Given the description of an element on the screen output the (x, y) to click on. 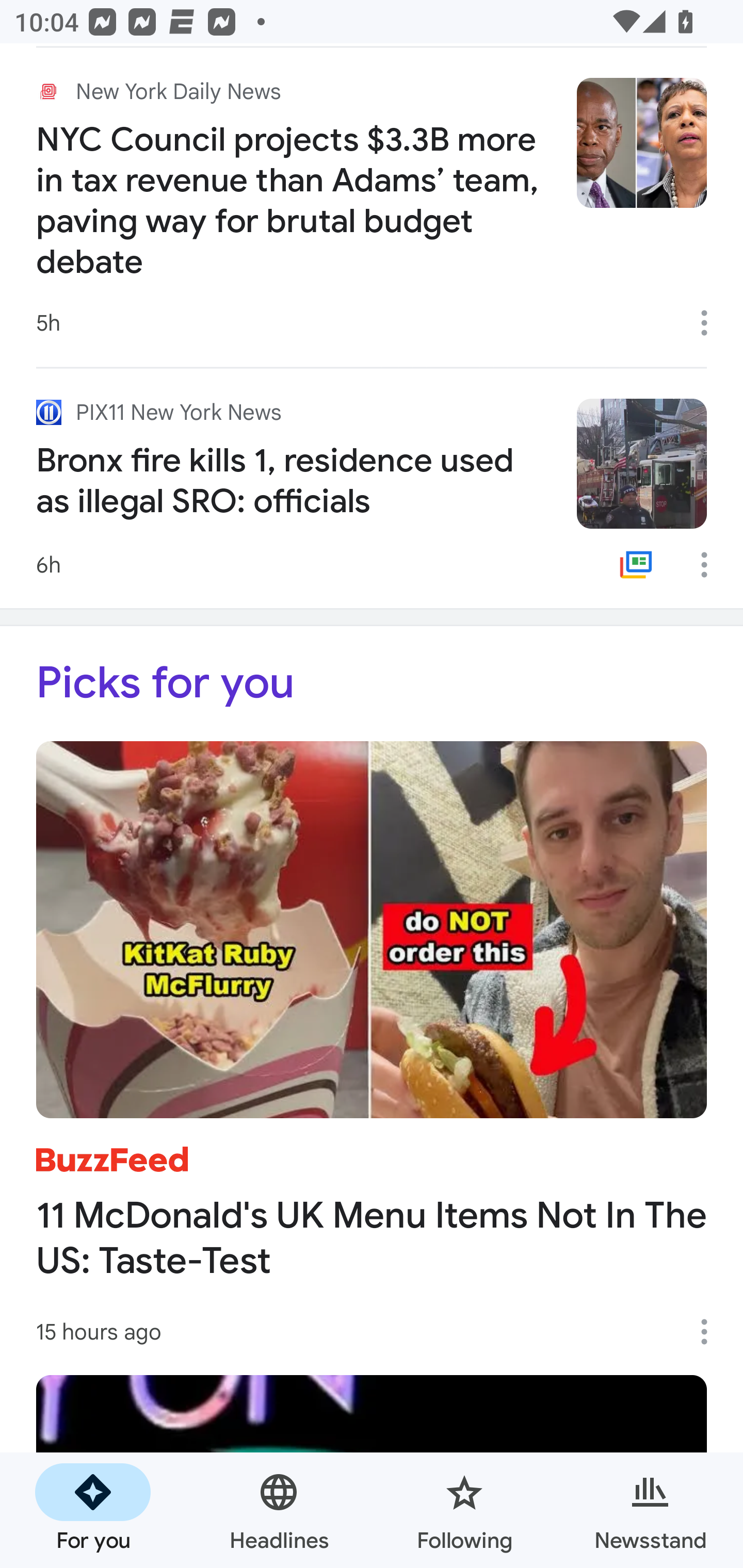
More options (711, 322)
More options (711, 564)
More options (711, 1331)
For you (92, 1509)
Headlines (278, 1509)
Following (464, 1509)
Newsstand (650, 1509)
